Given the description of an element on the screen output the (x, y) to click on. 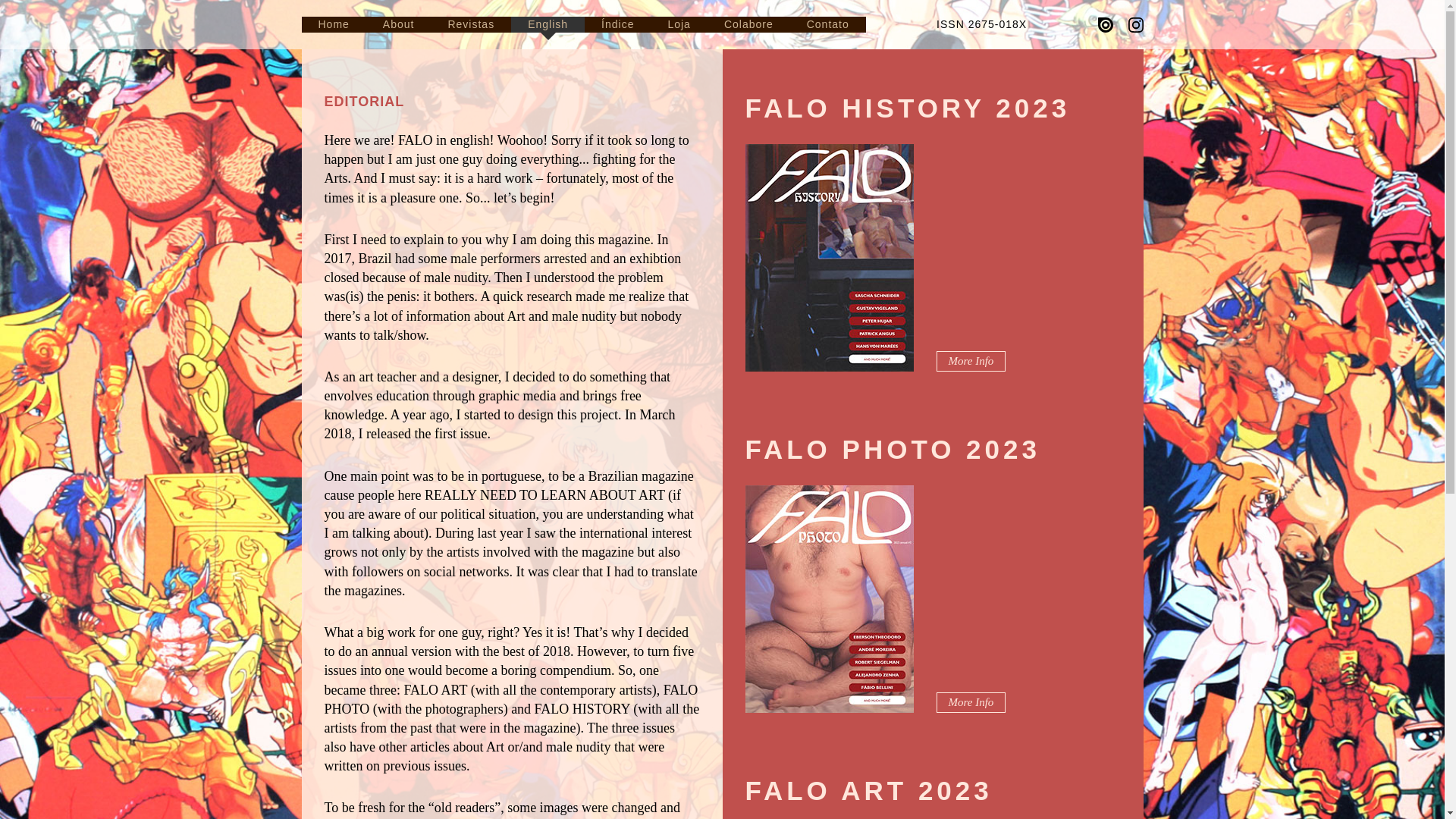
Home (333, 24)
More Info (971, 361)
About (398, 24)
Revistas (470, 24)
English (548, 24)
Contato (828, 24)
Loja (678, 24)
More Info (971, 702)
Colabore (748, 24)
